Given the description of an element on the screen output the (x, y) to click on. 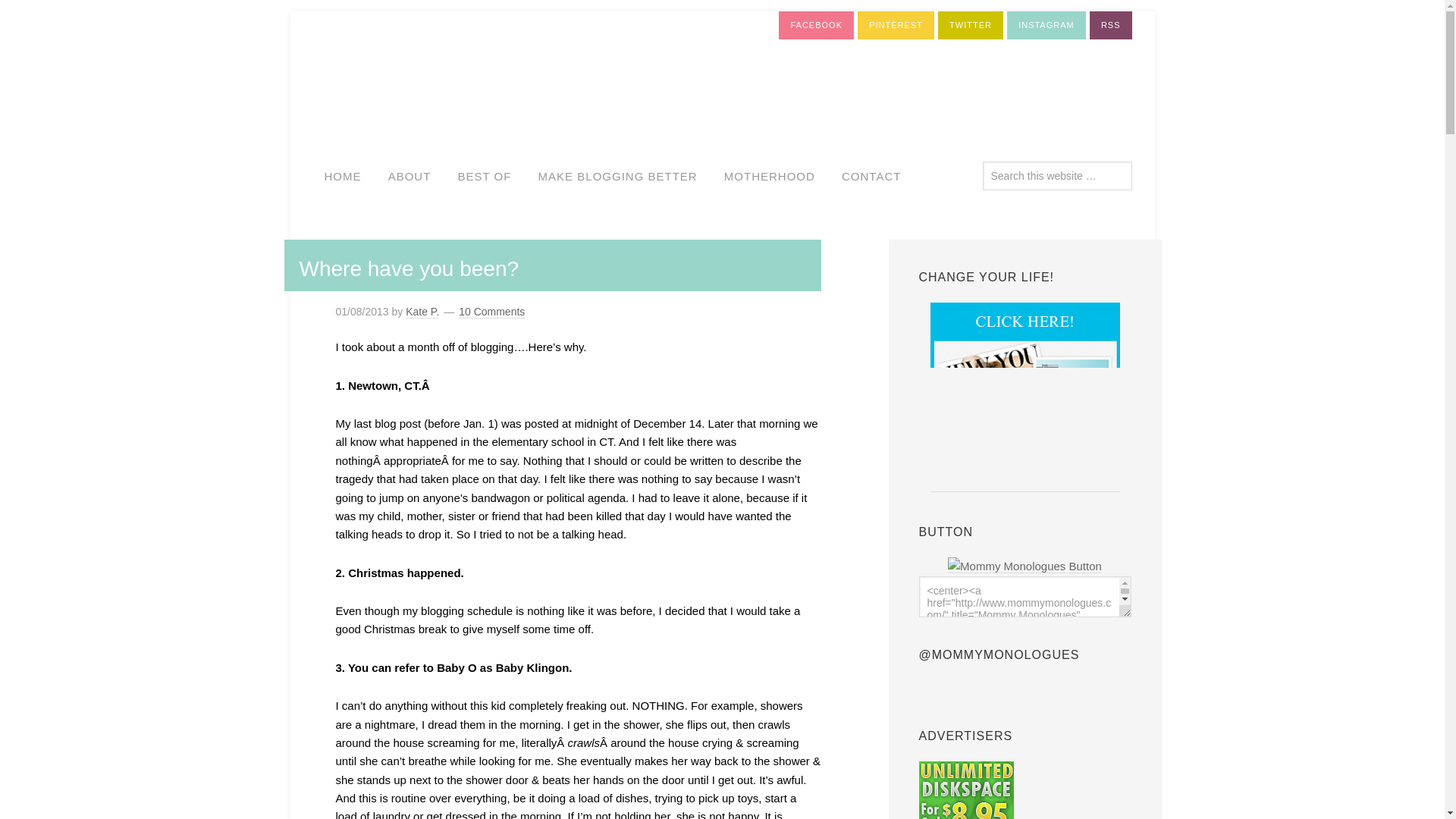
10 Comments (491, 310)
INSTAGRAM (1046, 25)
BEST OF (484, 177)
Mommy Monologues (1024, 566)
CONTACT (870, 177)
MOTHERHOOD (770, 177)
MAKE BLOGGING BETTER (618, 177)
RSS (1110, 25)
TWITTER (970, 25)
